Given the description of an element on the screen output the (x, y) to click on. 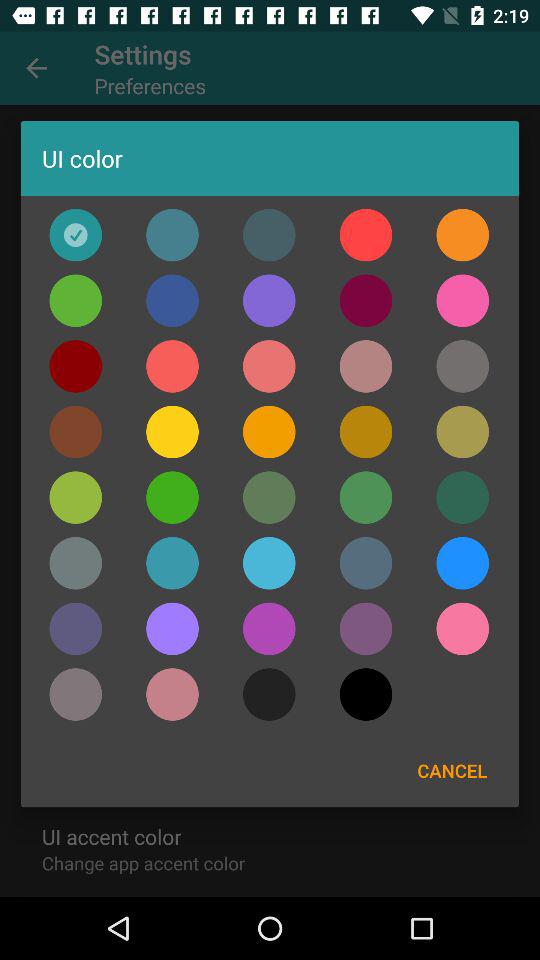
open icon below the ui color (75, 234)
